Given the description of an element on the screen output the (x, y) to click on. 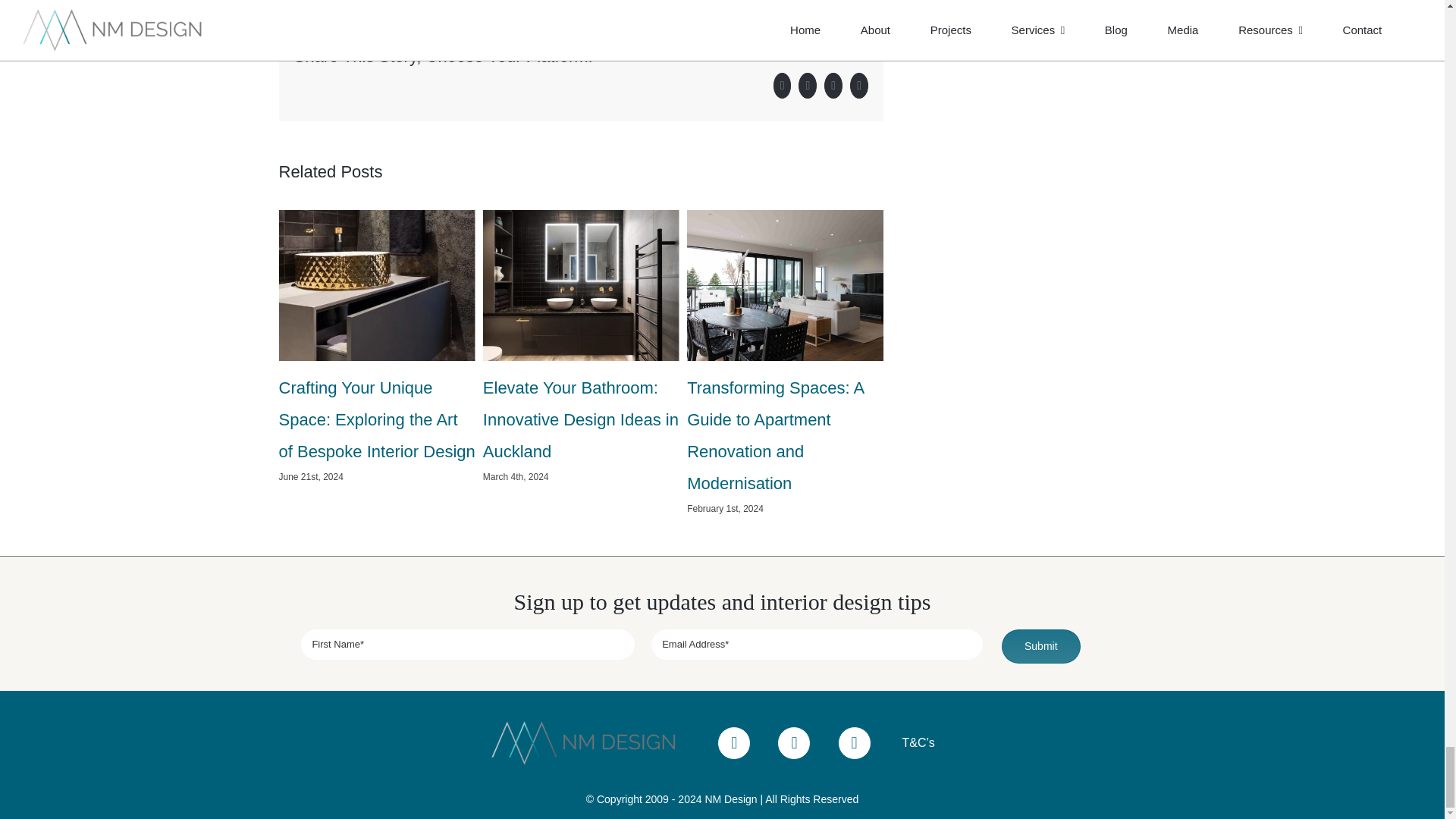
Elevate Your Bathroom: Innovative Design Ideas in Auckland (580, 419)
nmdesign-logo-440 (588, 742)
Submit (722, 645)
